Given the description of an element on the screen output the (x, y) to click on. 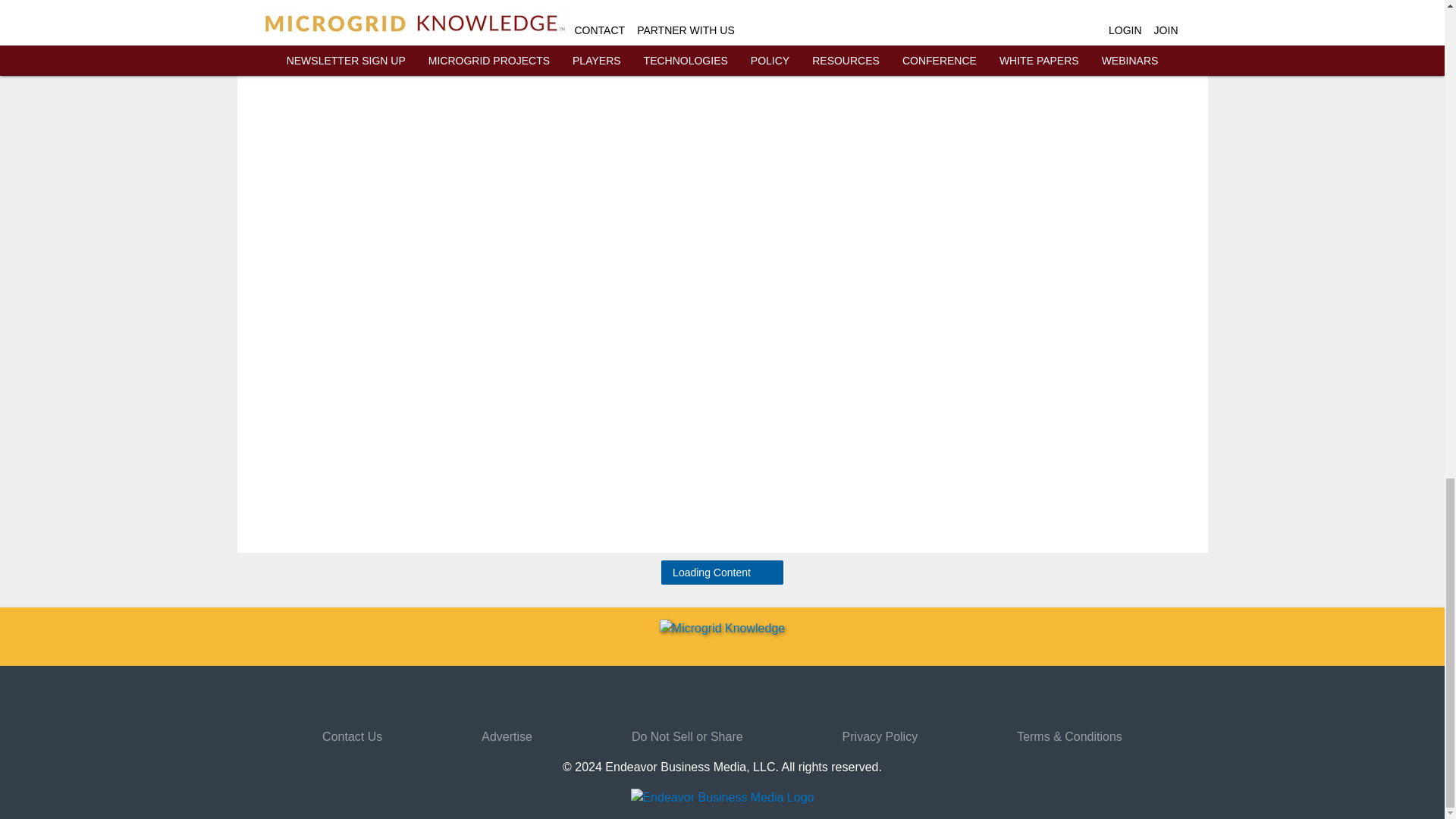
Get the full report. (946, 5)
